Given the description of an element on the screen output the (x, y) to click on. 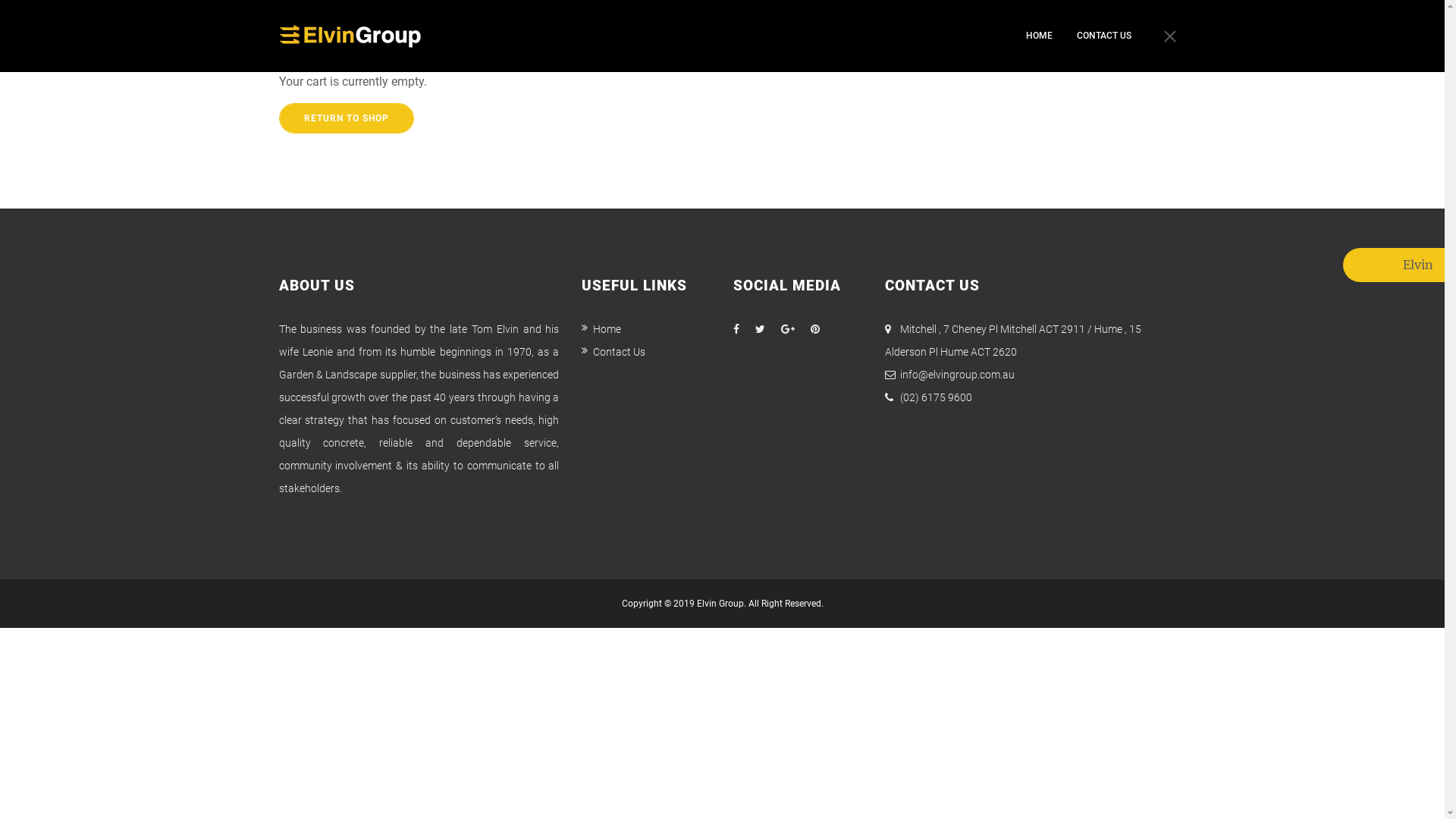
HOME Element type: text (1038, 36)
Elvin Element type: text (1402, 264)
RETURN TO SHOP Element type: text (346, 118)
Home Element type: text (601, 329)
Contact Us Element type: text (613, 351)
info@elvingroup.com.au Element type: text (957, 374)
CONTACT US Element type: text (1103, 36)
